Given the description of an element on the screen output the (x, y) to click on. 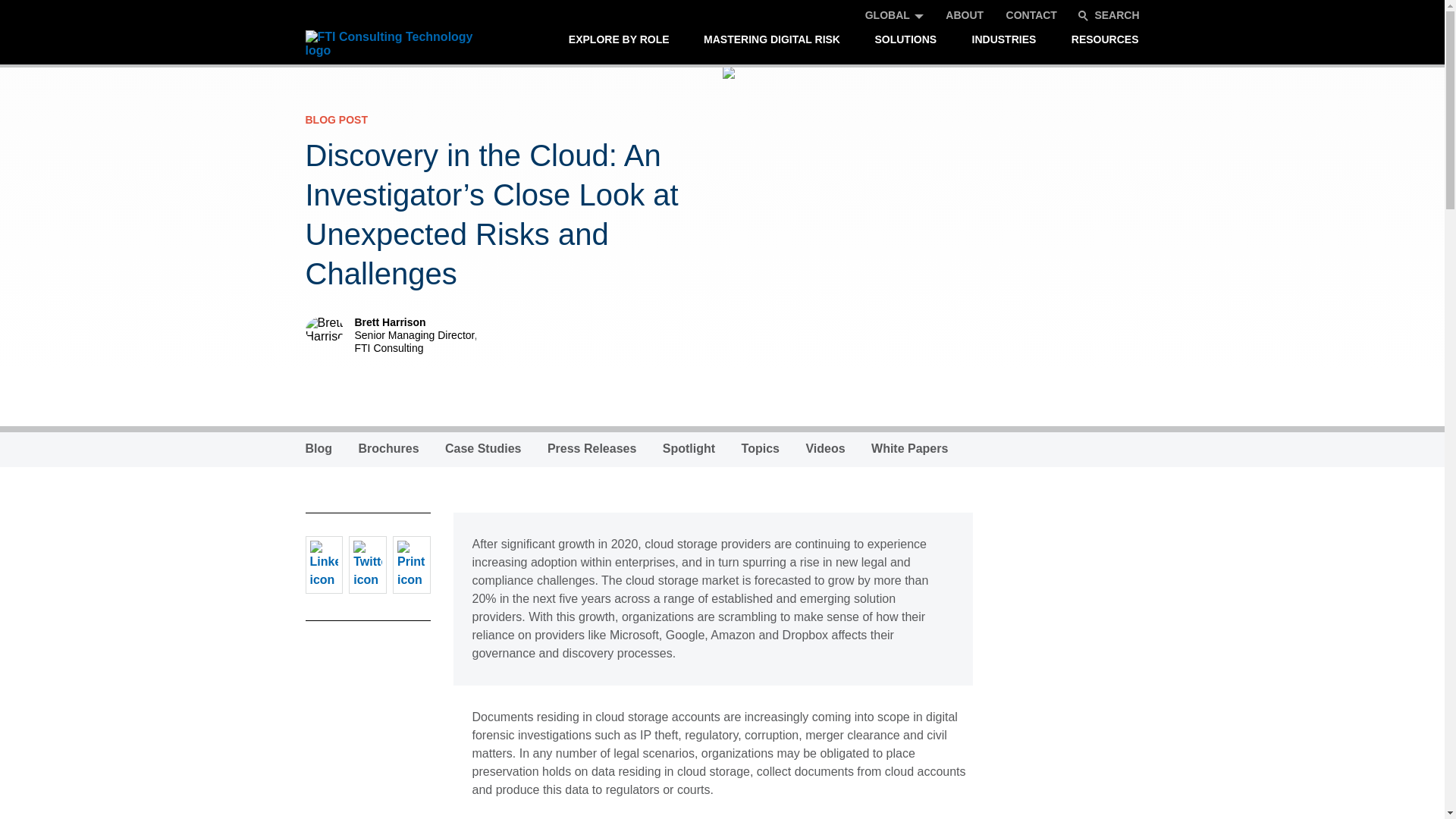
EXPLORE BY ROLE (618, 39)
ABOUT (964, 15)
SOLUTIONS (905, 39)
MASTERING DIGITAL RISK (772, 39)
GLOBAL (887, 15)
CONTACT (1031, 15)
SEARCH (1108, 15)
